Given the description of an element on the screen output the (x, y) to click on. 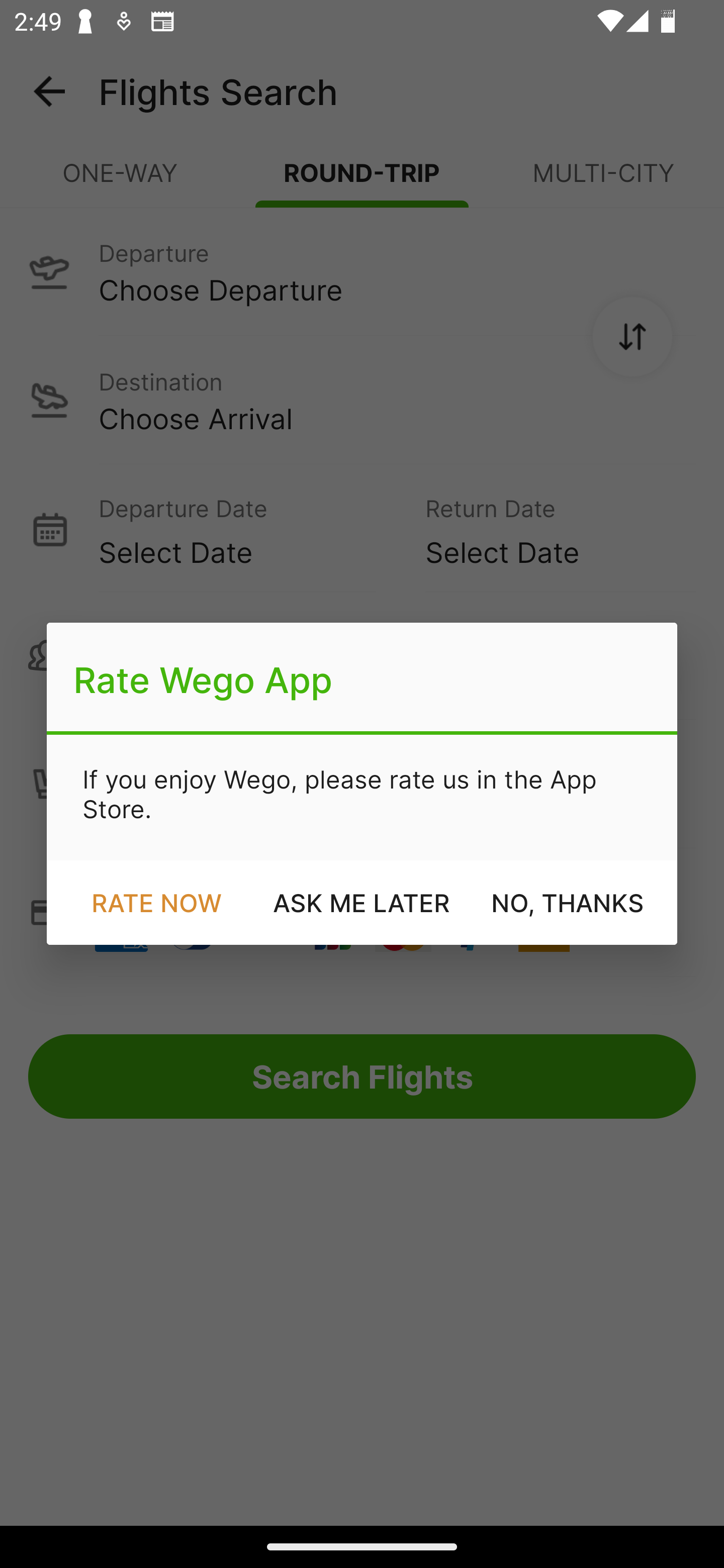
RATE NOW (156, 902)
ASK ME LATER (361, 902)
NO, THANKS (567, 902)
